Given the description of an element on the screen output the (x, y) to click on. 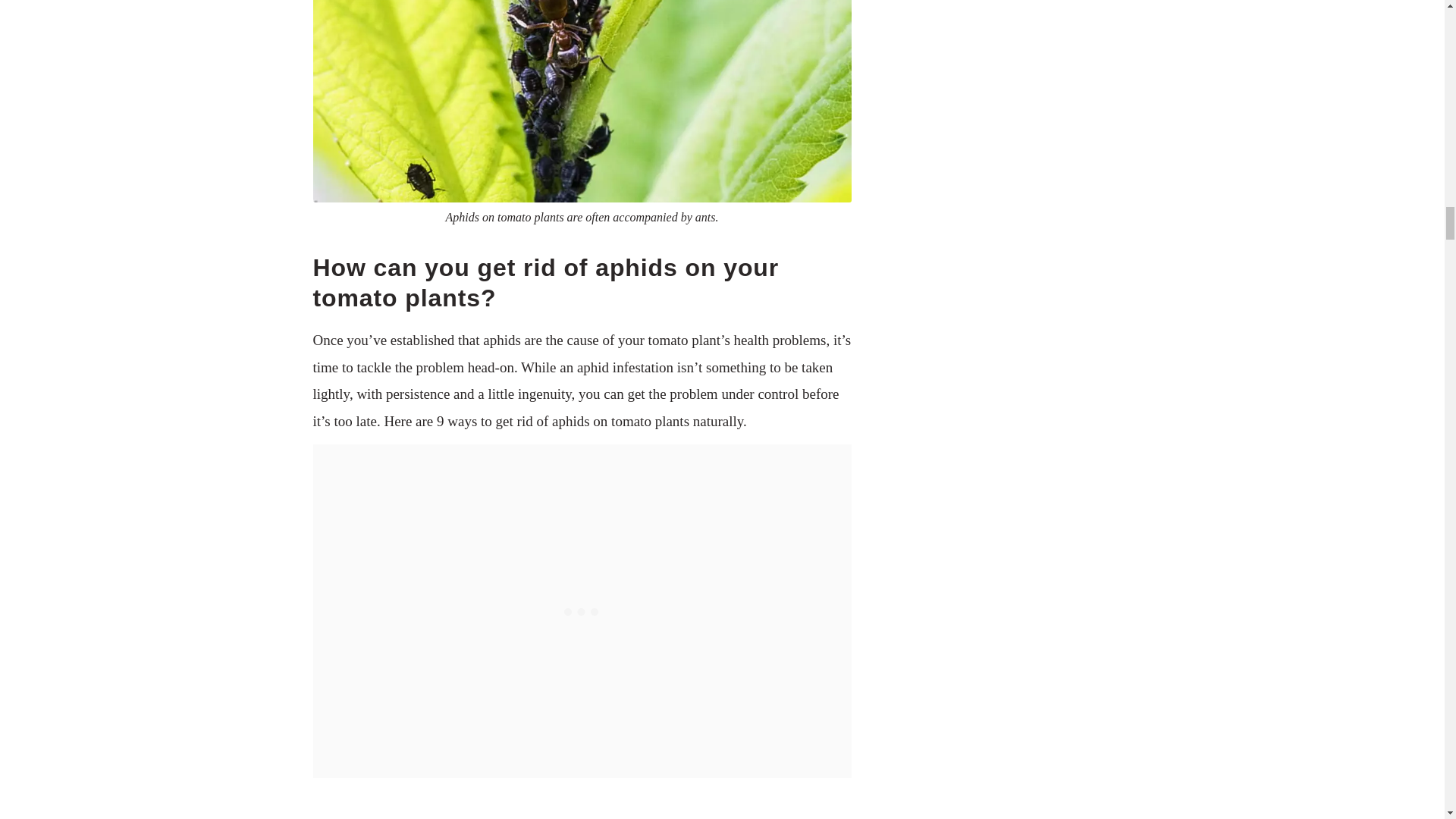
Getting Rid Of Aphids On Tomatoes (581, 802)
